Given the description of an element on the screen output the (x, y) to click on. 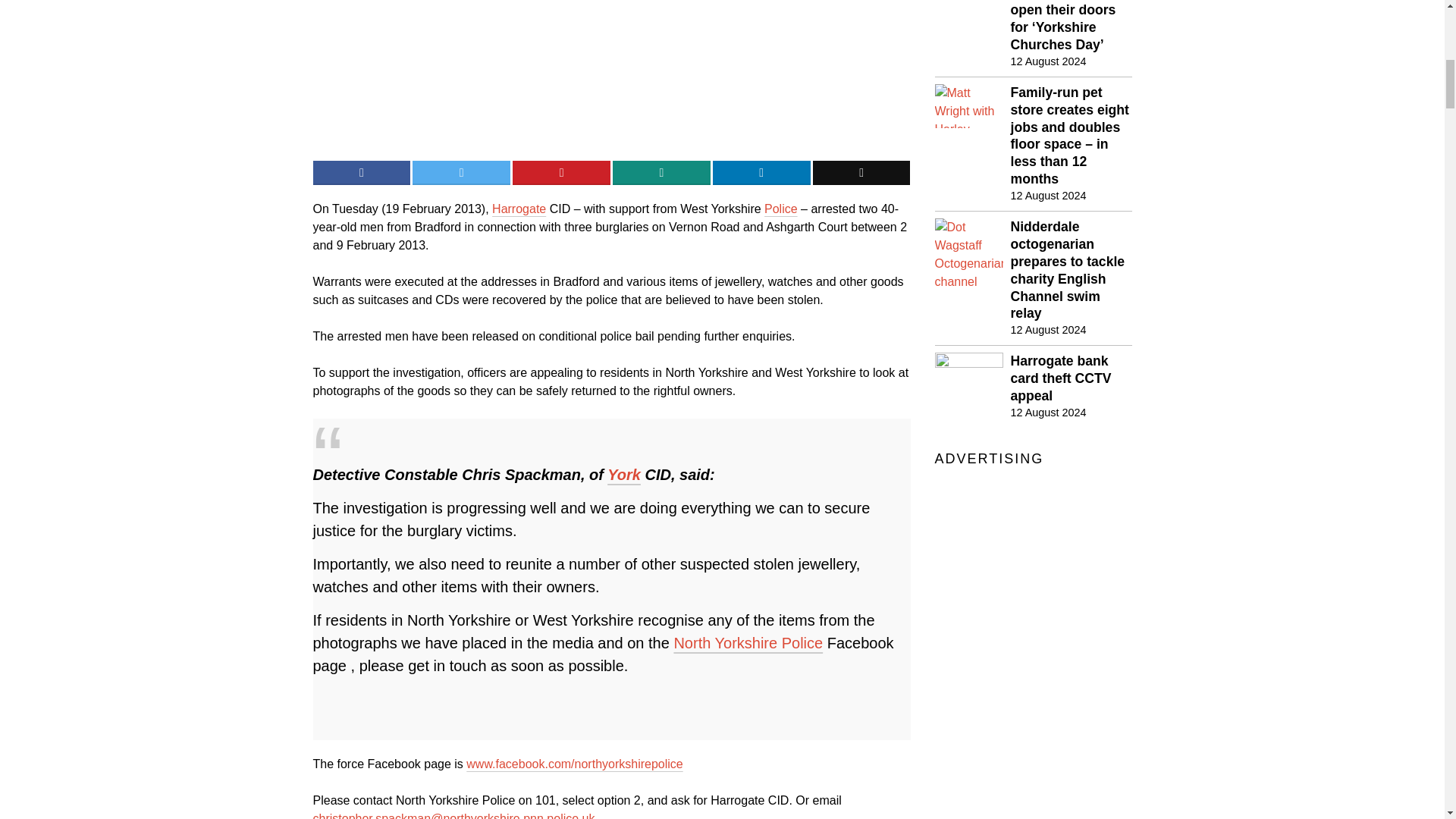
12 Aug, 2024 17:05:36 (1396, 22)
York (1048, 61)
Police (623, 474)
North Yorkshire Police (780, 208)
12 Aug, 2024 17:44:00 (747, 642)
York (1048, 195)
12 Aug, 2024 09:49:24 (623, 474)
Harrogate (1048, 412)
Harrogate (519, 208)
